Given the description of an element on the screen output the (x, y) to click on. 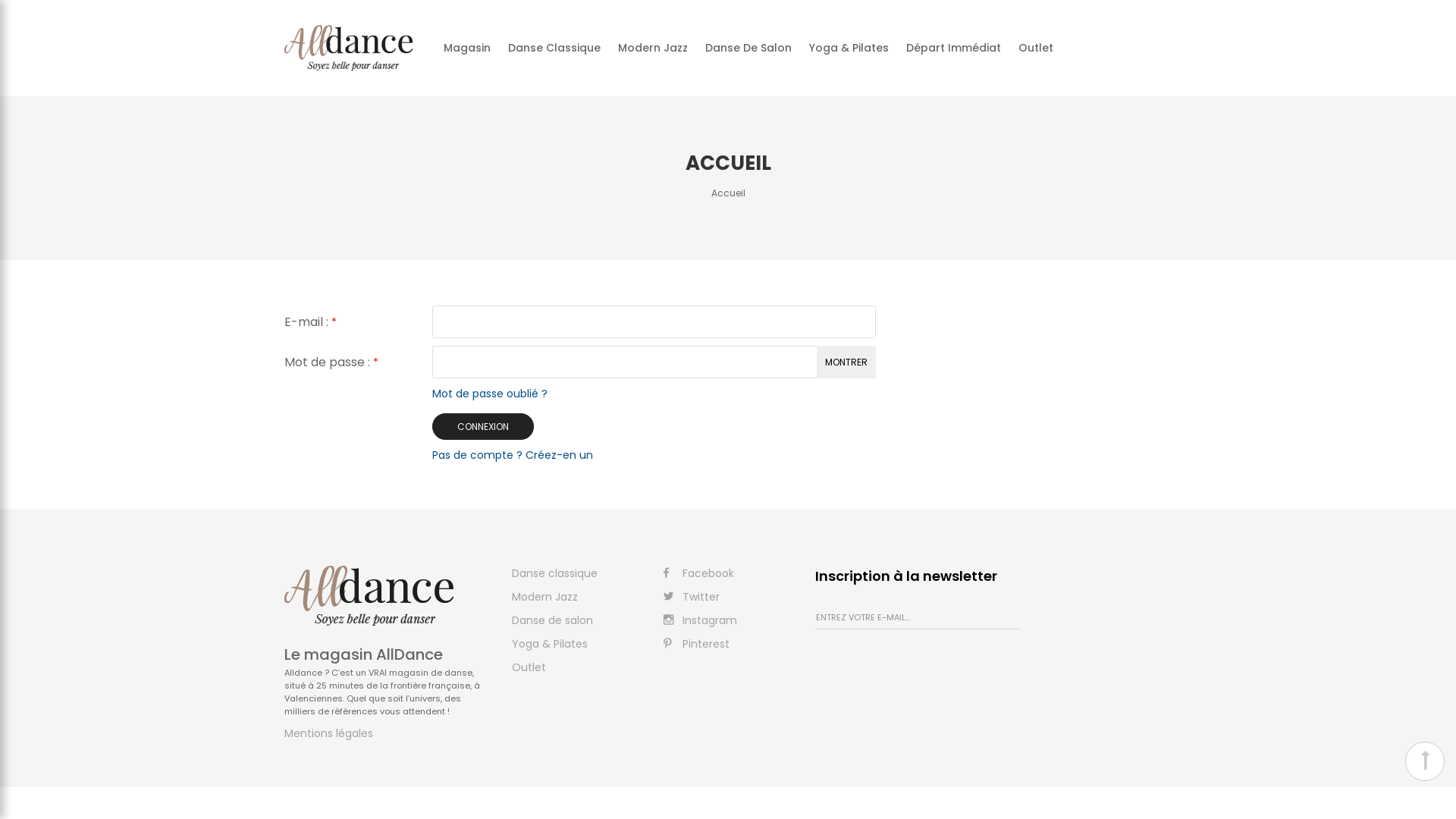
Modern Jazz Element type: text (652, 47)
Twitter Element type: text (691, 596)
MONTRER Element type: text (845, 361)
Modern Jazz Element type: text (544, 596)
Accueil Element type: text (728, 192)
Danse de salon Element type: text (552, 619)
Danse Classique Element type: text (554, 47)
Outlet Element type: text (528, 666)
Outlet Element type: text (1035, 47)
Instagram Element type: text (700, 619)
Pinterest Element type: text (696, 643)
Danse De Salon Element type: text (748, 47)
Yoga & Pilates Element type: text (848, 47)
Magasin Element type: text (467, 47)
Yoga & Pilates Element type: text (549, 643)
CONNEXION Element type: text (482, 426)
Facebook Element type: text (698, 572)
Danse classique Element type: text (554, 572)
